Given the description of an element on the screen output the (x, y) to click on. 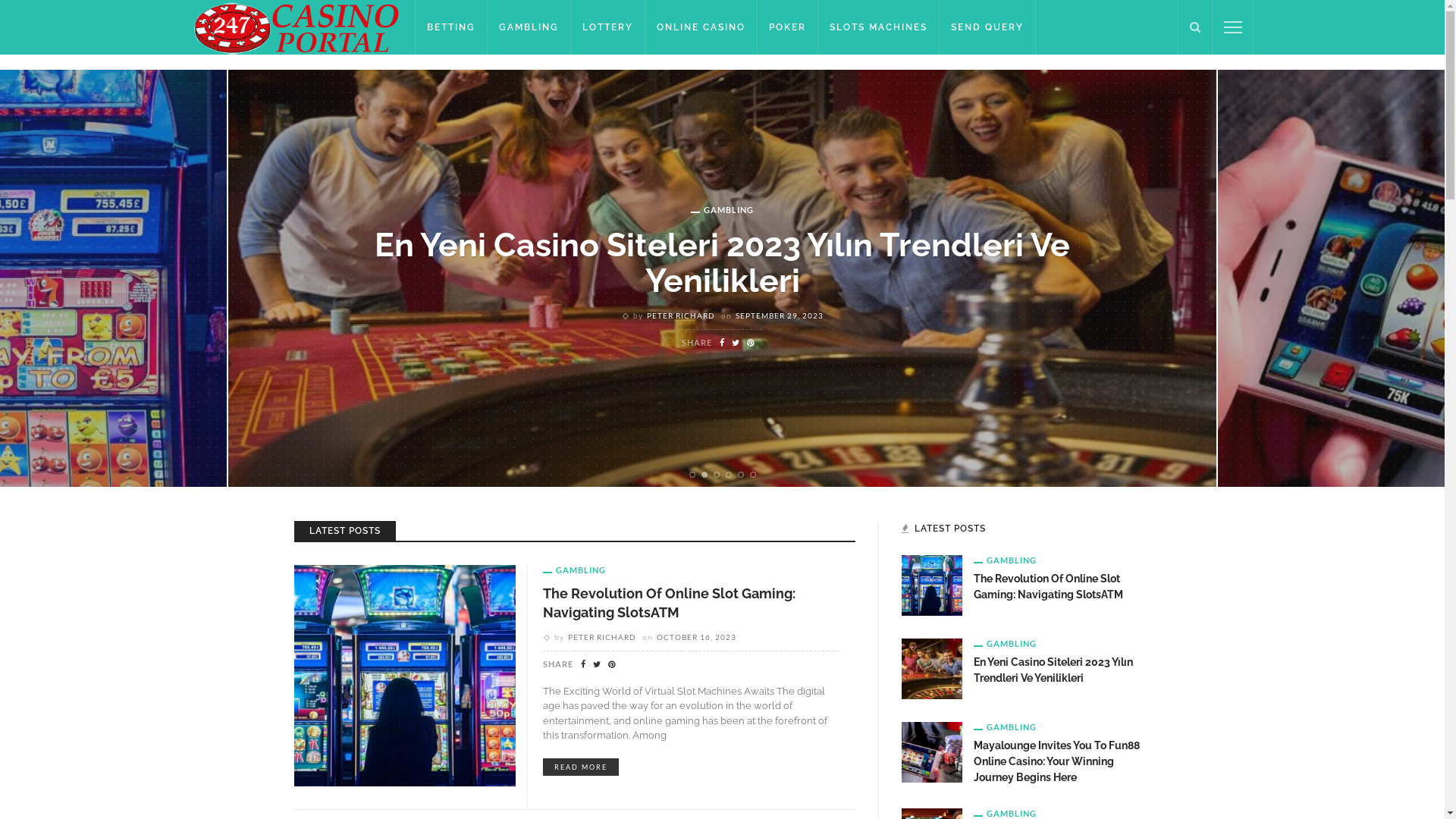
The Revolution Of Online Slot Gaming: Navigating SlotsATM Element type: text (1048, 586)
GAMBLING Element type: text (573, 569)
SEND QUERY Element type: text (987, 27)
GAMBLING Element type: text (1004, 643)
GAMBLING Element type: text (1004, 726)
The Revolution of Online Slot Gaming: Navigating SlotsATM Element type: hover (930, 584)
GAMBLING Element type: text (1004, 559)
GAMBLING Element type: text (529, 27)
SLOTS MACHINES Element type: text (878, 27)
LOTTERY Element type: text (608, 27)
The Revolution Of Online Slot Gaming: Navigating SlotsATM Element type: text (668, 602)
ONLINE CASINO Element type: text (701, 27)
PETER RICHARD Element type: text (601, 636)
The Revolution of Online Slot Gaming: Navigating SlotsATM Element type: hover (404, 674)
POKER Element type: text (787, 27)
GAMBLING Element type: text (1004, 813)
READ MORE Element type: text (580, 766)
BETTING Element type: text (450, 27)
